Given the description of an element on the screen output the (x, y) to click on. 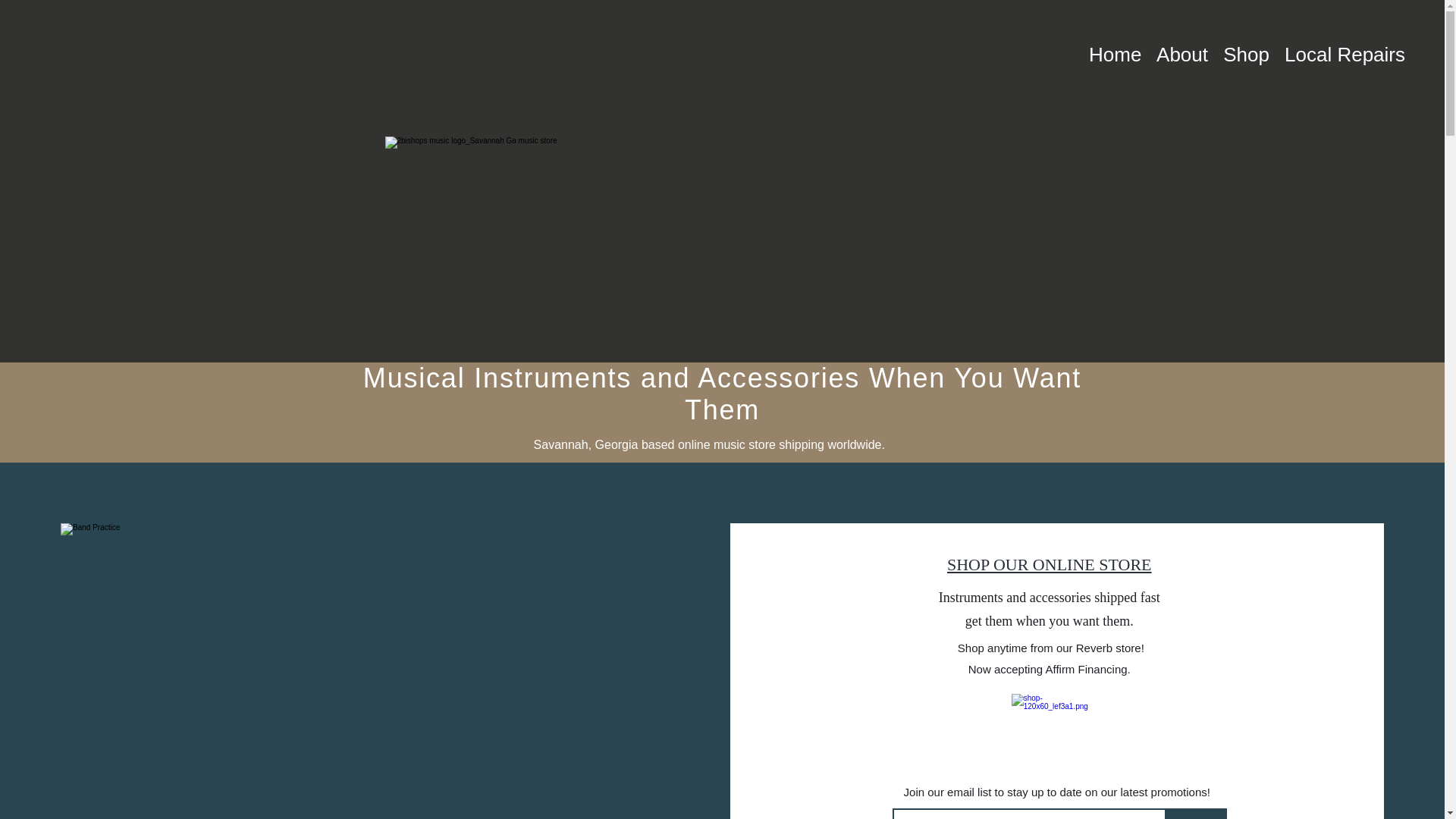
Home Element type: text (1114, 54)
Local Repairs Element type: text (1344, 54)
About Element type: text (1181, 54)
SHOP OUR ONLINE STORE Element type: text (1049, 564)
Shop Element type: text (1246, 54)
